Given the description of an element on the screen output the (x, y) to click on. 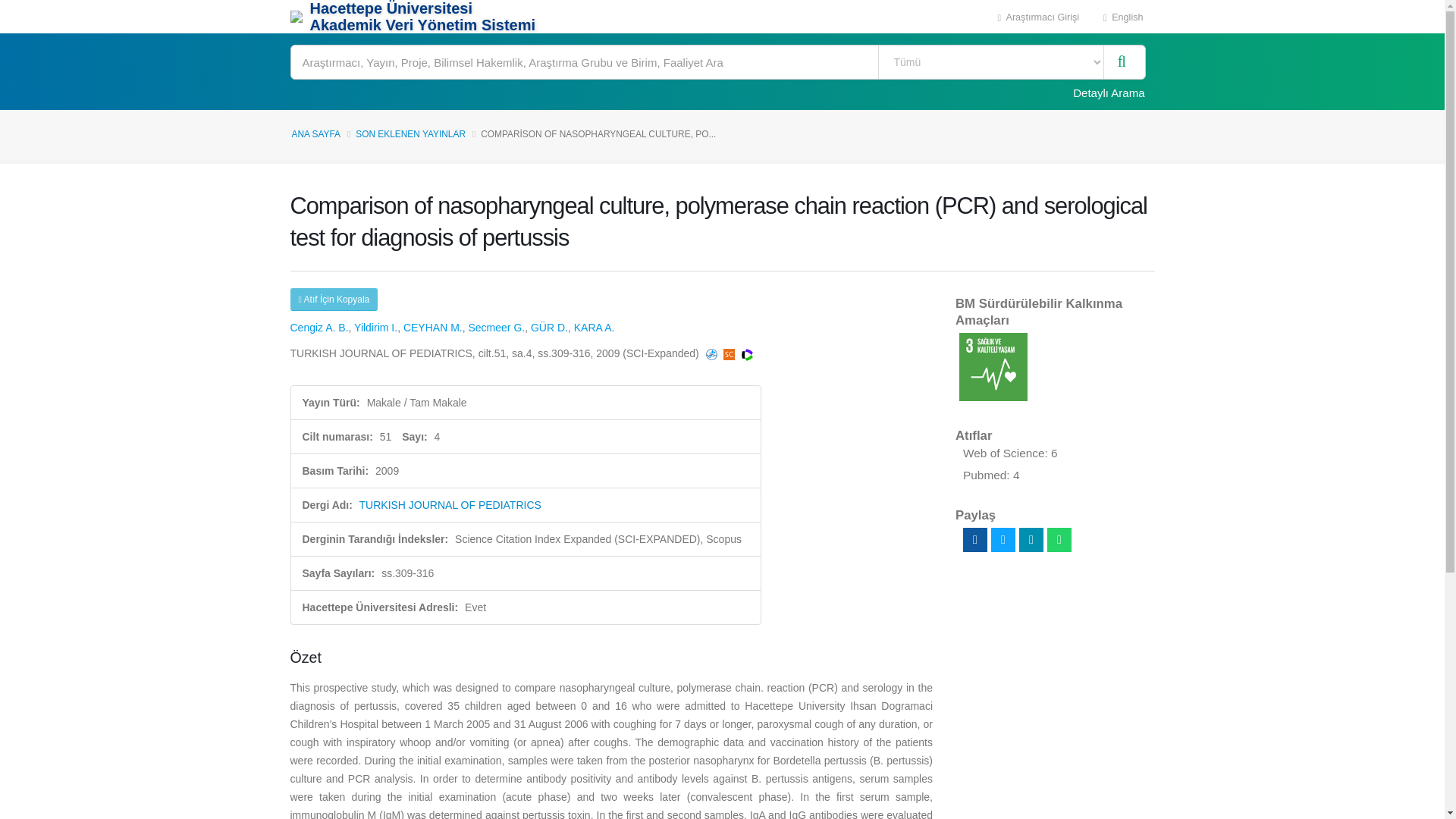
Secmeer G. (495, 327)
Guelten Secmeer (495, 327)
Yildirim I. (375, 327)
ANA SAYFA (315, 133)
CEYHAN M. (433, 327)
Ali Buelent Cengiz (318, 327)
SON EKLENEN YAYINLAR (410, 133)
TURKISH JOURNAL OF PEDIATRICS (450, 504)
Inci Yildirim (375, 327)
English (1123, 17)
